Given the description of an element on the screen output the (x, y) to click on. 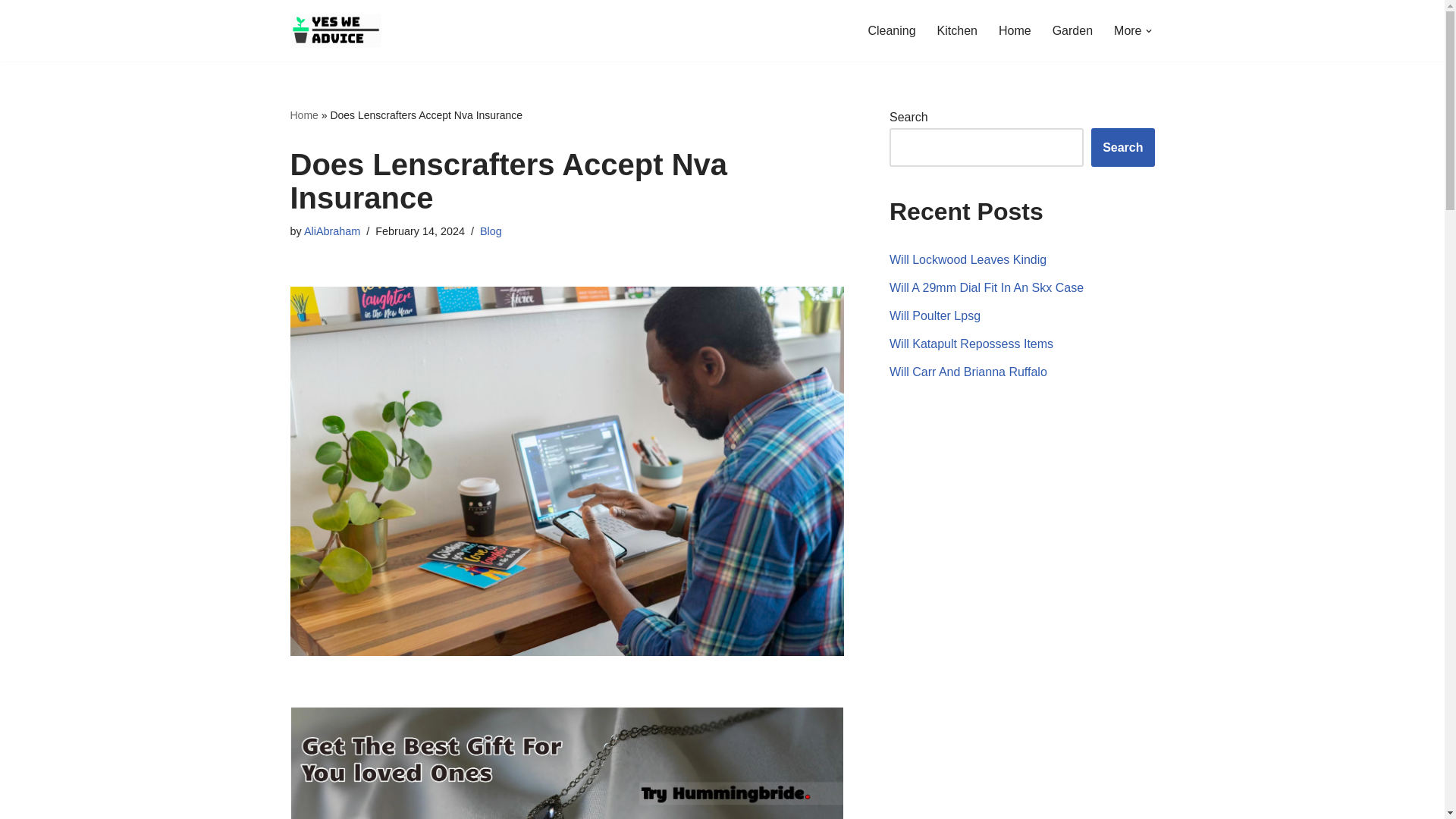
AliAbraham (331, 231)
Garden (1072, 30)
Home (303, 114)
Skip to content (11, 31)
Cleaning (891, 30)
Kitchen (956, 30)
Home (1014, 30)
Posts by AliAbraham (331, 231)
More (1127, 30)
Blog (491, 231)
